Given the description of an element on the screen output the (x, y) to click on. 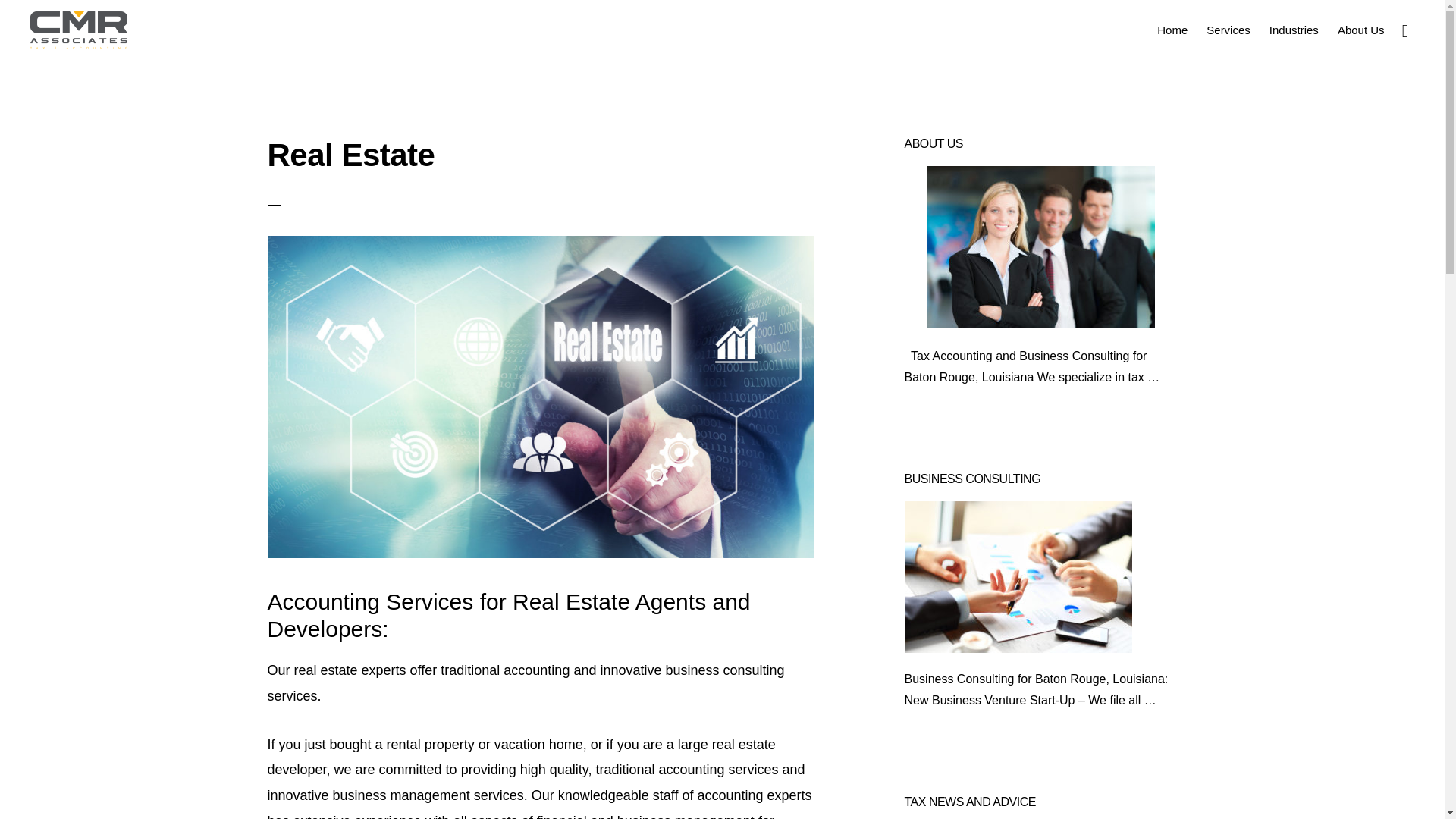
Industries (1294, 29)
SERVICES (672, 775)
About Us (1360, 29)
INDUSTRIES (745, 775)
ABOUT US (818, 775)
Home (1172, 29)
Services (1227, 29)
HOME (614, 775)
Show Search (1404, 29)
